Given the description of an element on the screen output the (x, y) to click on. 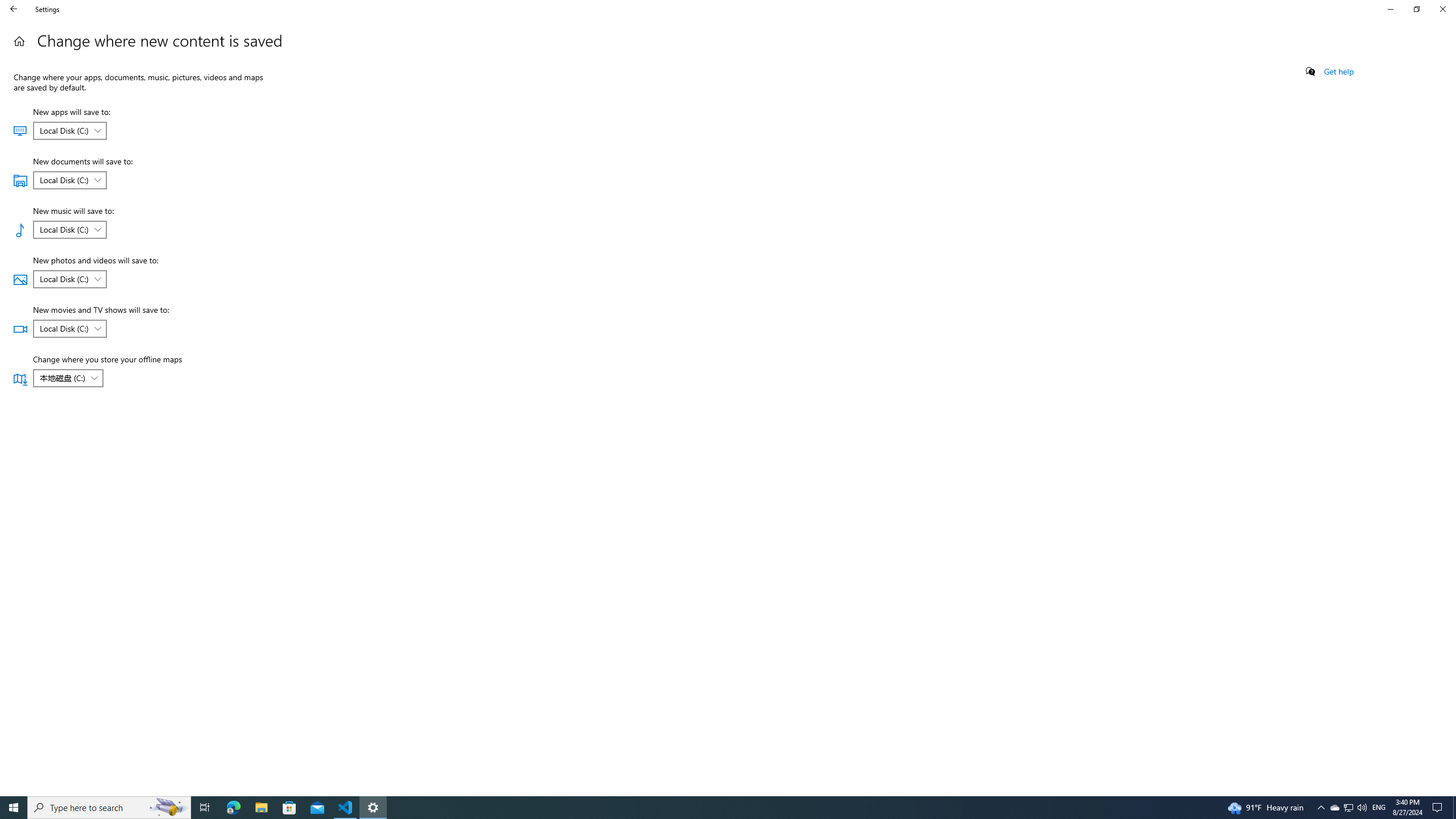
Get help (1338, 71)
New music will save to: (1347, 807)
Start (69, 229)
Back (13, 807)
Microsoft Edge (13, 9)
New movies and TV shows will save to: (233, 807)
Tray Input Indicator - English (United States) (69, 328)
Home (1378, 807)
Type here to search (19, 40)
Search highlights icon opens search home window (108, 807)
New documents will save to: (167, 807)
Change where you store your offline maps (69, 180)
Minimize Settings (68, 378)
